Given the description of an element on the screen output the (x, y) to click on. 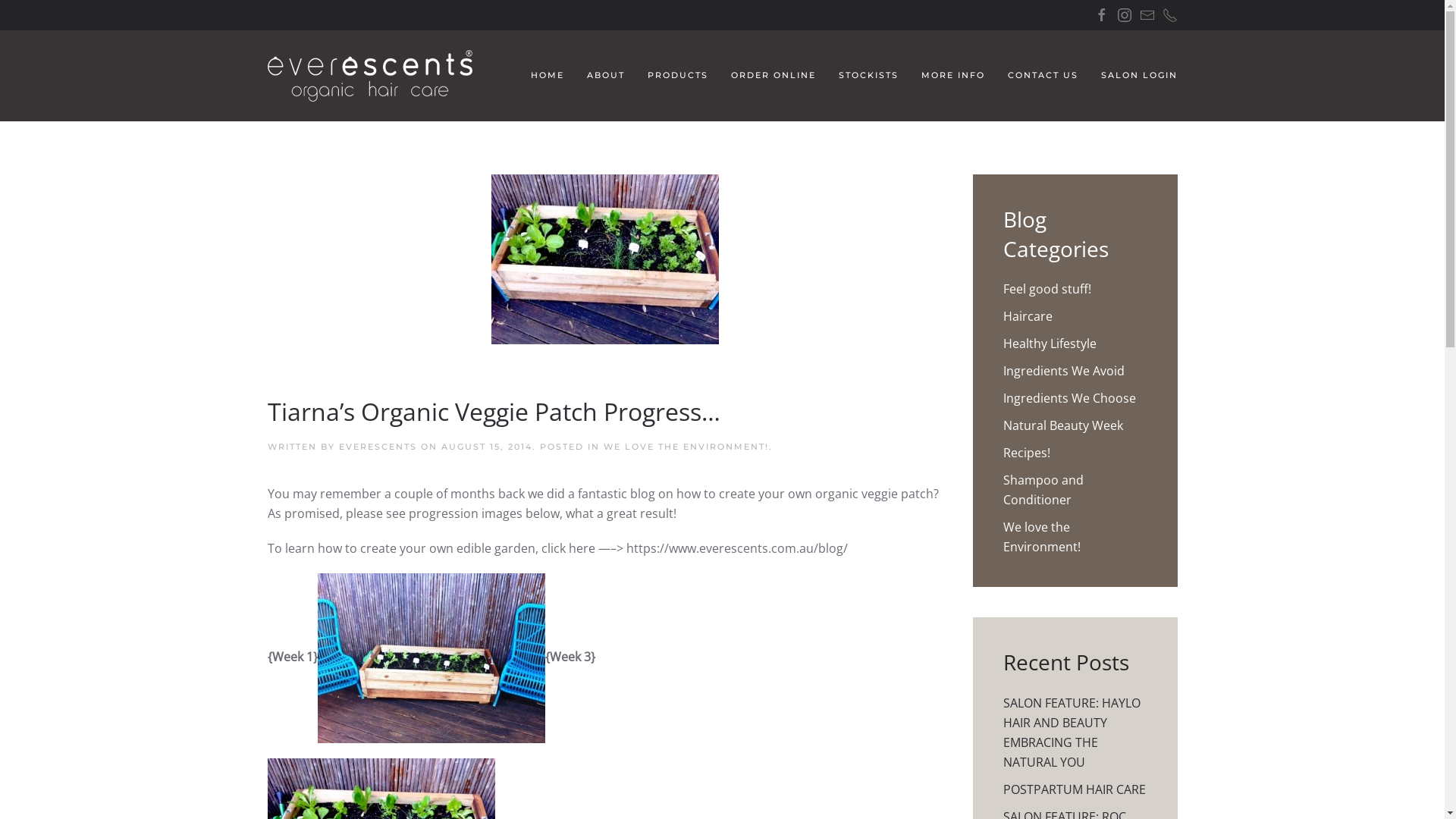
MORE INFO Element type: text (952, 75)
POSTPARTUM HAIR CARE Element type: text (1073, 789)
ORDER ONLINE Element type: text (773, 75)
Ingredients We Avoid Element type: text (1062, 370)
Feel good stuff! Element type: text (1046, 288)
Ingredients We Choose Element type: text (1068, 397)
ABOUT Element type: text (605, 75)
PRODUCTS Element type: text (677, 75)
STOCKISTS Element type: text (868, 75)
Recipes! Element type: text (1025, 452)
Haircare Element type: text (1026, 315)
SALON LOGIN Element type: text (1139, 75)
EVERESCENTS Element type: text (377, 446)
Healthy Lifestyle Element type: text (1048, 343)
Natural Beauty Week Element type: text (1062, 425)
HOME Element type: text (547, 75)
WE LOVE THE ENVIRONMENT! Element type: text (685, 446)
CONTACT US Element type: text (1042, 75)
We love the Environment! Element type: text (1040, 536)
Shampoo and Conditioner Element type: text (1042, 489)
